Given the description of an element on the screen output the (x, y) to click on. 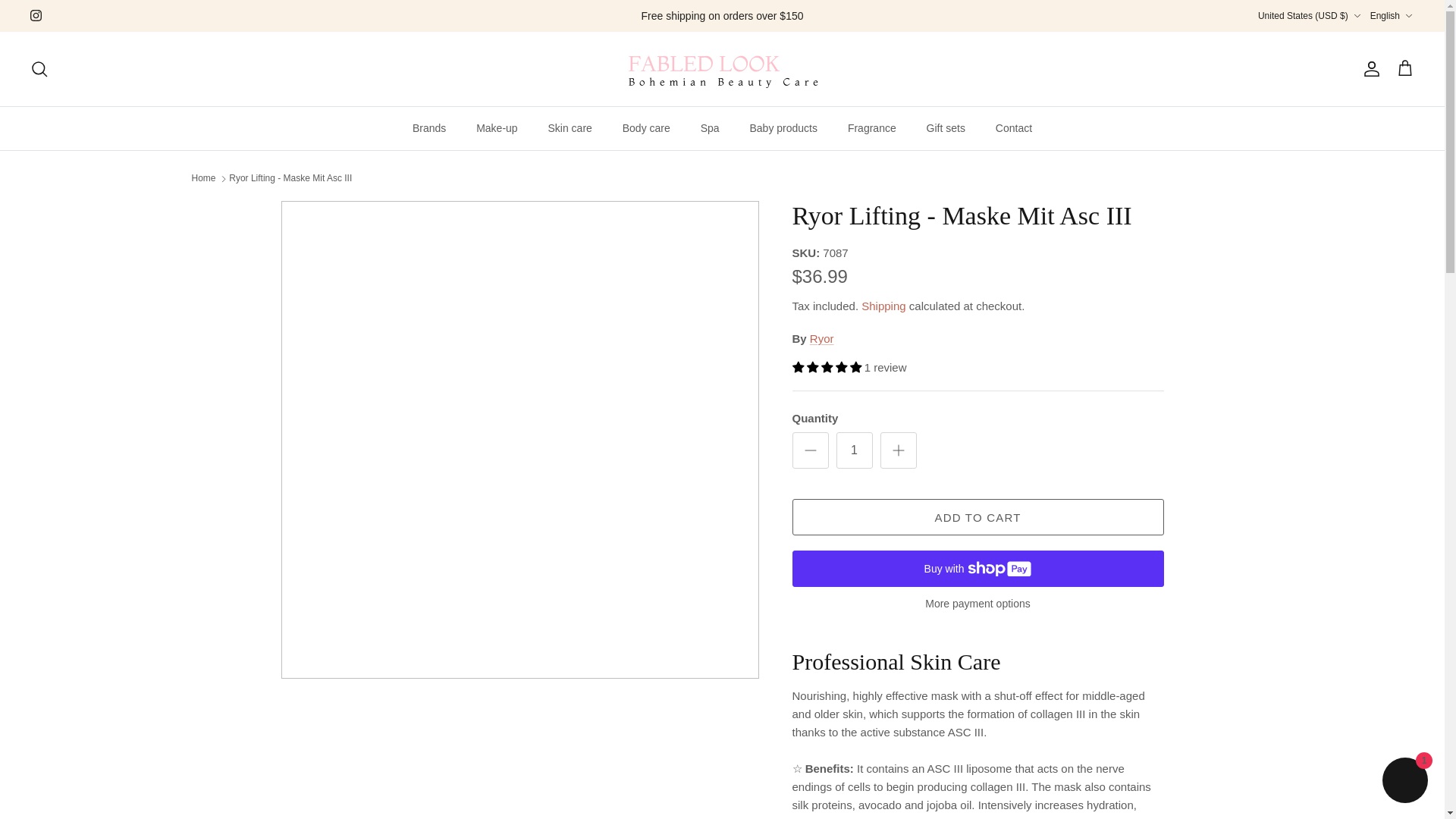
Minus (809, 450)
Shopify online store chat (1404, 781)
Down (1357, 15)
Down (1408, 15)
1 (853, 450)
Plus (897, 450)
Instagram (36, 15)
Fabled Look (722, 68)
Instagram (36, 15)
